Given the description of an element on the screen output the (x, y) to click on. 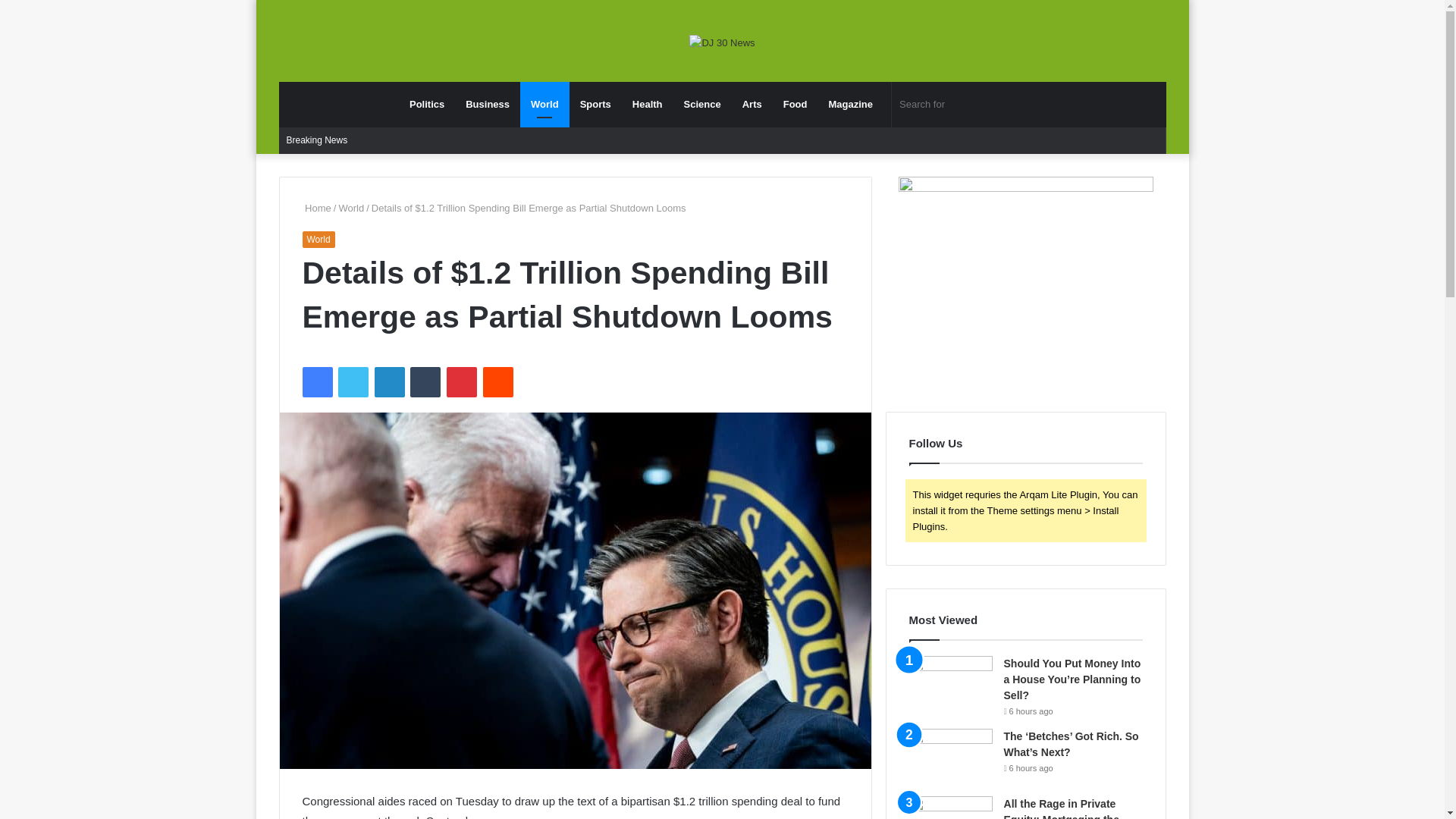
Tumblr (425, 381)
Search for (968, 104)
Tumblr (425, 381)
Science (702, 104)
Magazine (849, 104)
World (544, 104)
Twitter (352, 381)
DJ 30 News (721, 42)
Sports (595, 104)
LinkedIn (389, 381)
Facebook (316, 381)
Facebook (316, 381)
Health (646, 104)
LinkedIn (389, 381)
Pinterest (461, 381)
